Given the description of an element on the screen output the (x, y) to click on. 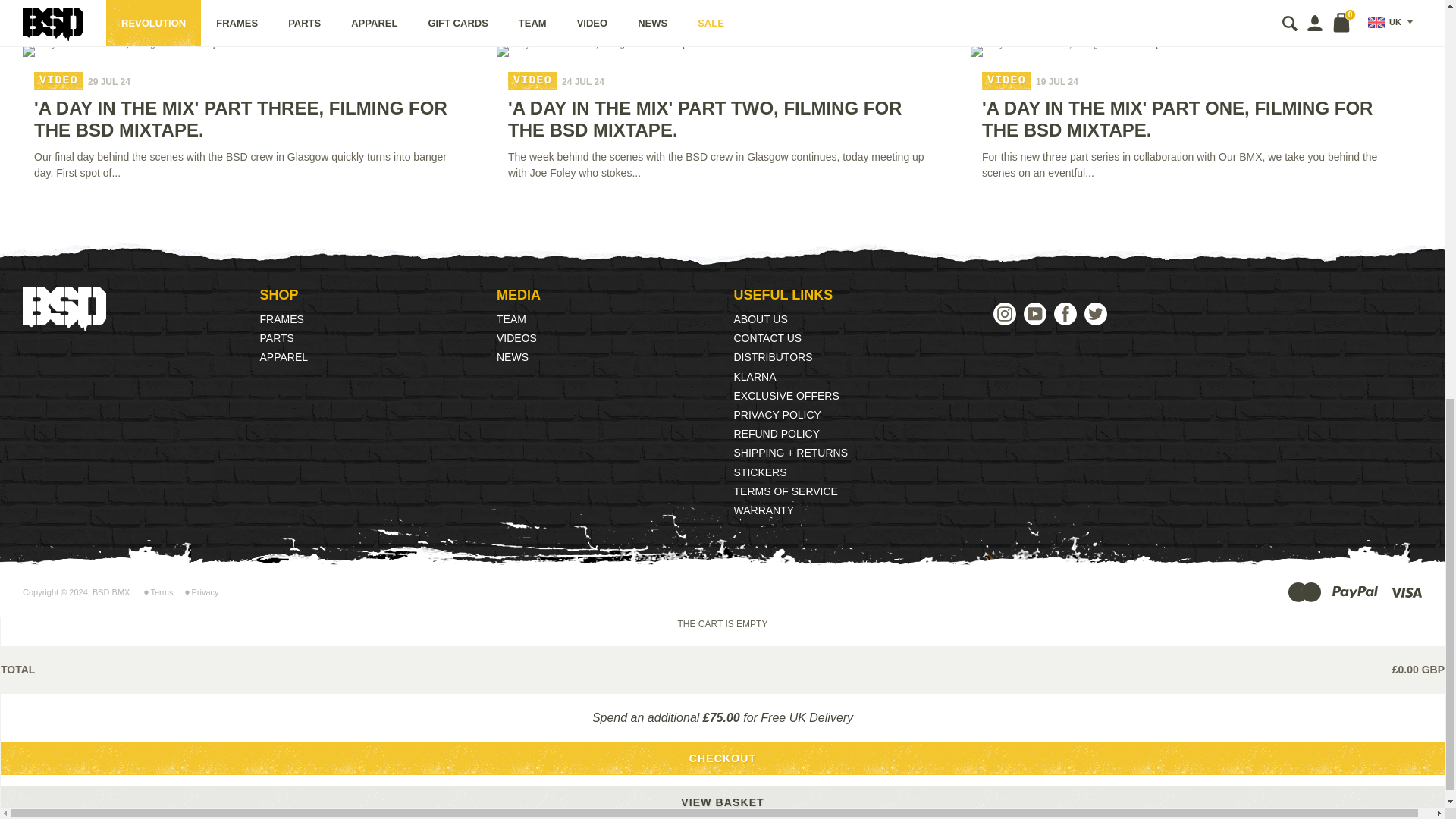
BSD BMX on Instagram (1004, 313)
BSD BMX on YouTube (1034, 313)
BSD BMX on Facebook (1065, 313)
BSD BMX on Twitter (1095, 313)
